Given the description of an element on the screen output the (x, y) to click on. 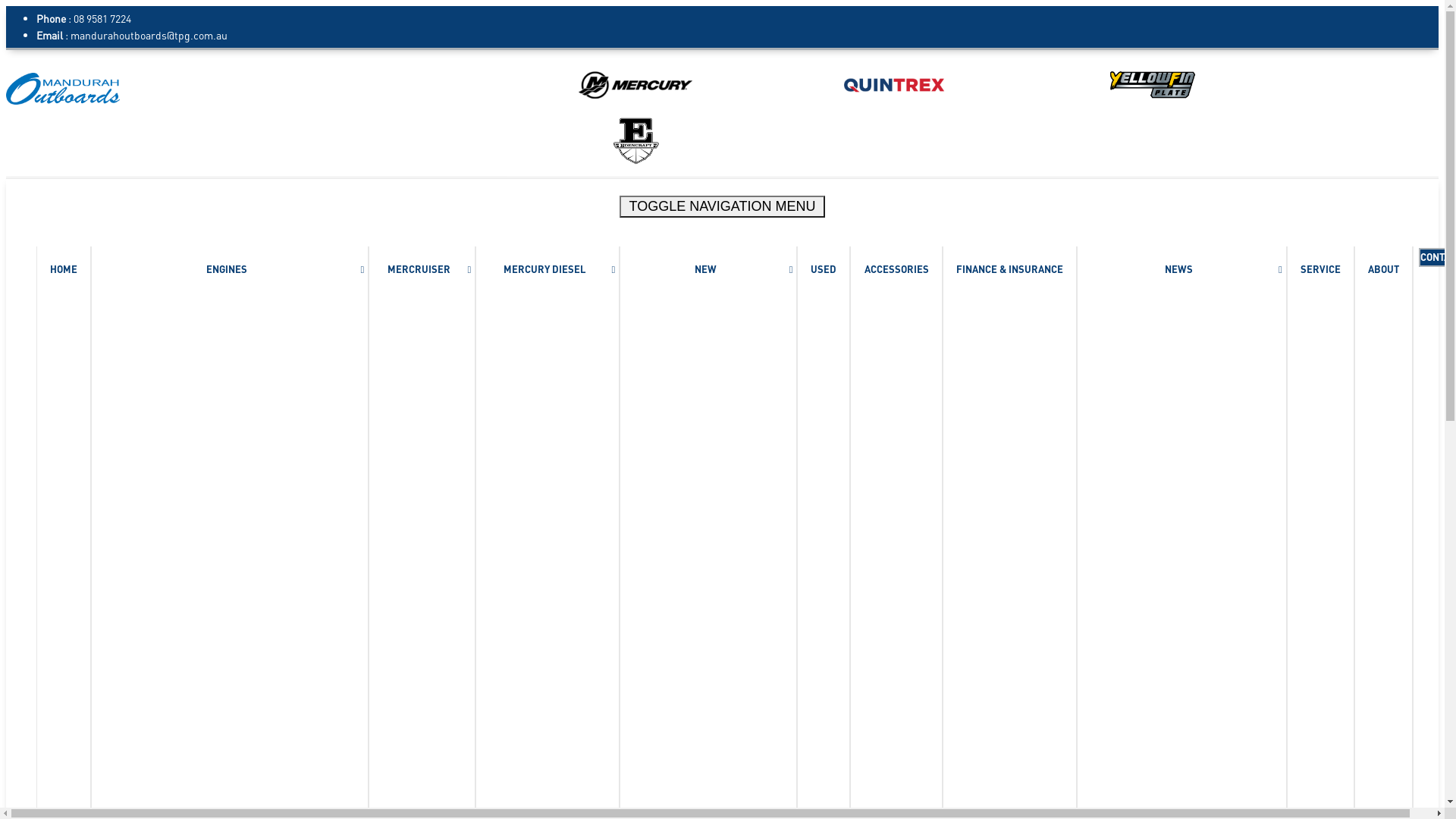
ACCESSORIES Element type: text (896, 269)
ABOUT Element type: text (1383, 269)
SERVICE Element type: text (1320, 269)
USED Element type: text (823, 269)
NEW Element type: text (705, 269)
FINANCE & INSURANCE Element type: text (1009, 269)
NEWS Element type: text (1178, 269)
MERCURY DIESEL Element type: text (544, 269)
TOGGLE NAVIGATION MENU Element type: text (721, 206)
MERCRUISER Element type: text (418, 269)
ENGINES Element type: text (226, 269)
08 9581 7224 Element type: text (102, 18)
mandurahoutboards@tpg.com.au Element type: text (148, 34)
HOME Element type: text (63, 269)
